Given the description of an element on the screen output the (x, y) to click on. 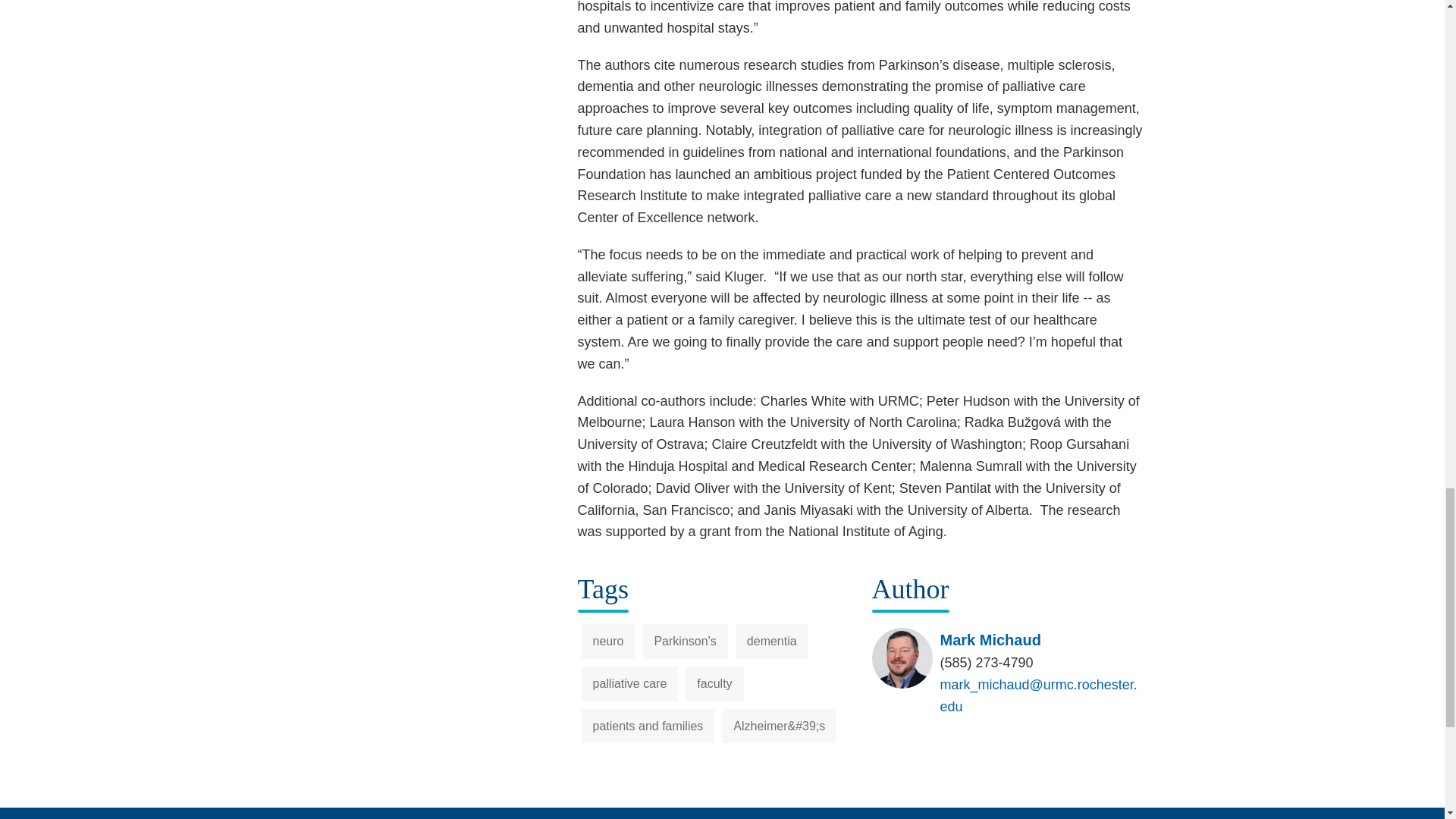
patients and families (647, 726)
faculty (713, 683)
dementia (771, 641)
neuro (607, 641)
palliative care (629, 683)
